Given the description of an element on the screen output the (x, y) to click on. 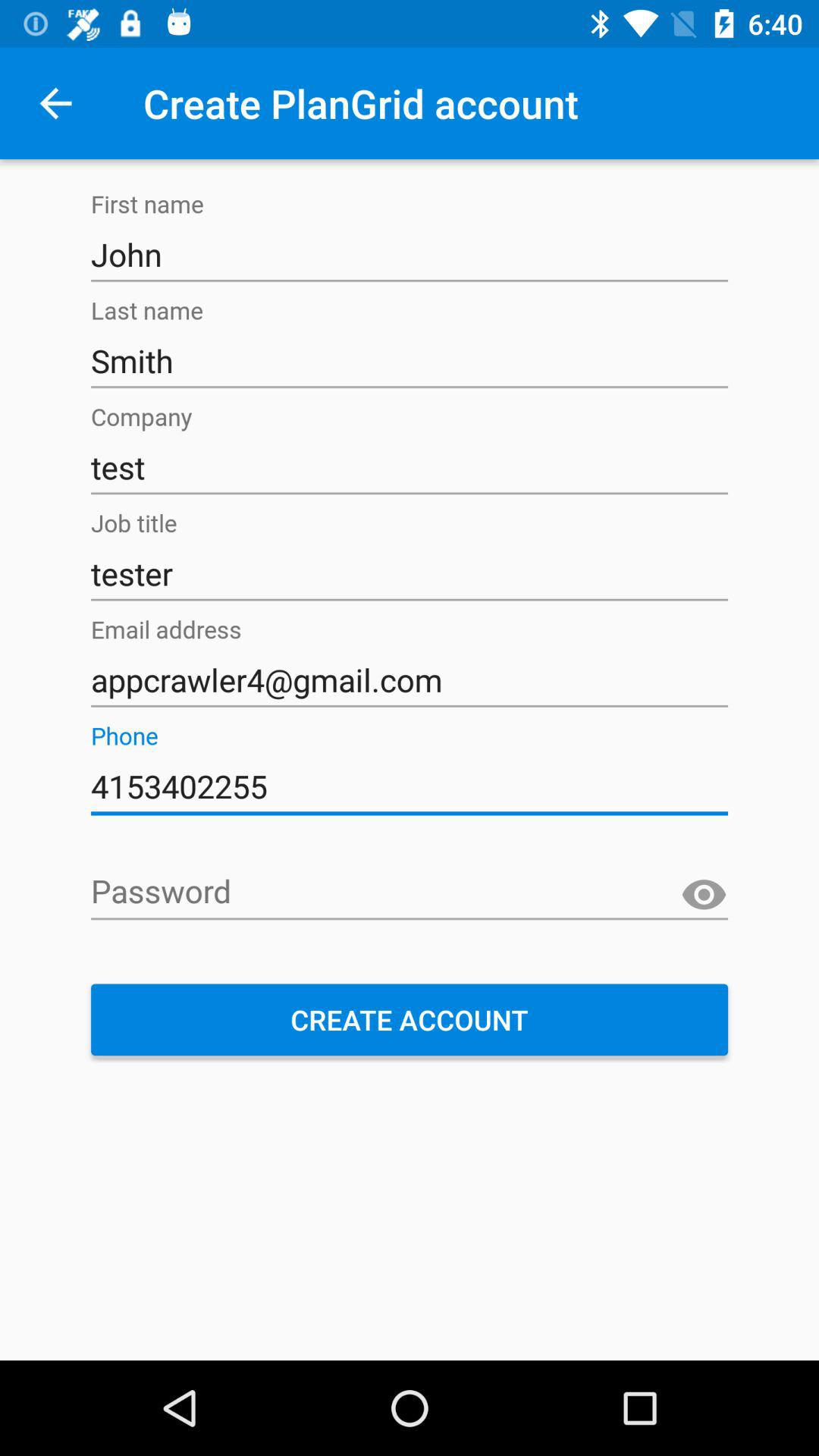
turn off appcrawler4@gmail.com icon (409, 680)
